Given the description of an element on the screen output the (x, y) to click on. 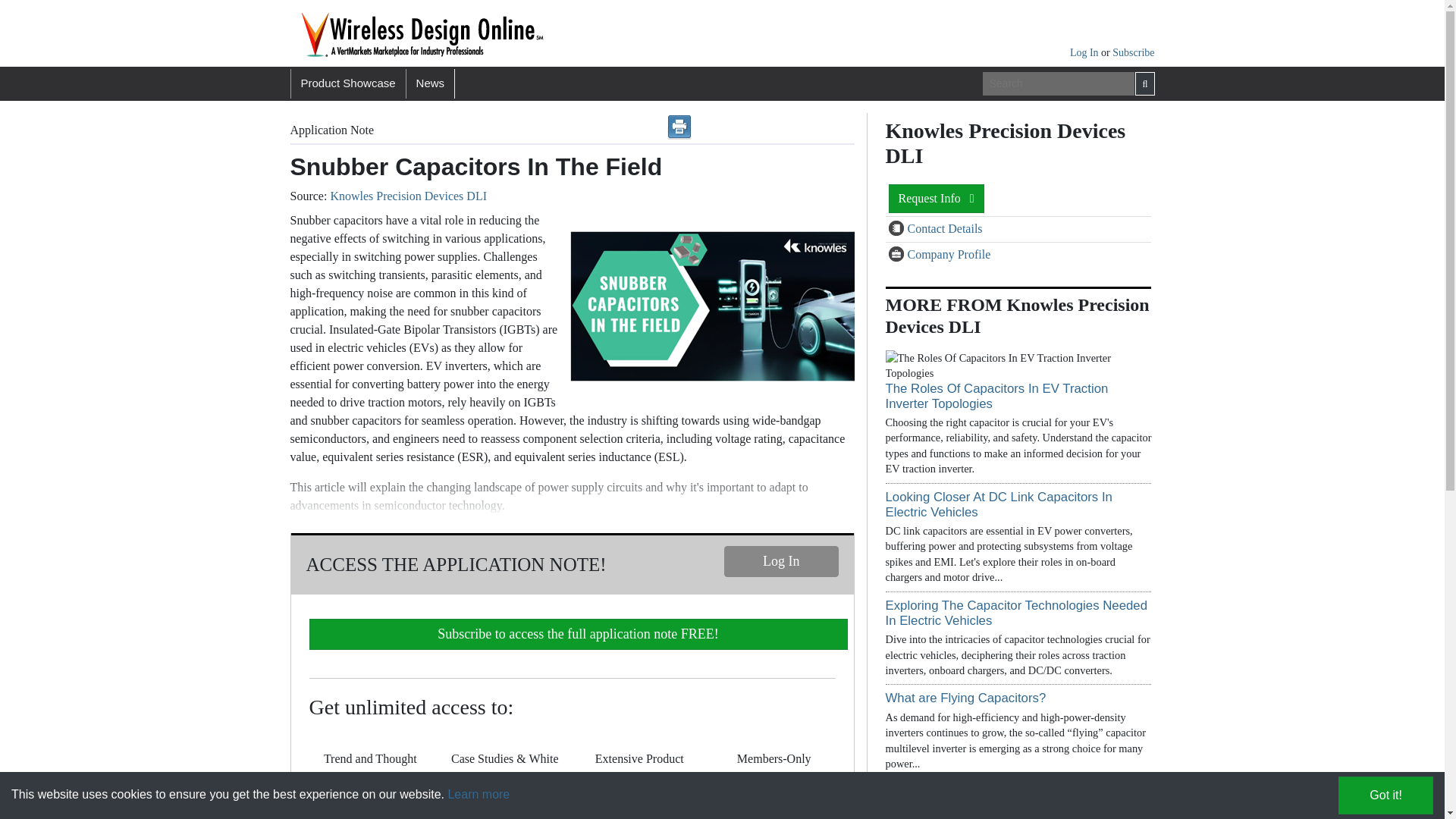
Log In (780, 561)
What are Flying Capacitors? (965, 698)
Knowles Precision Devices DLI (408, 195)
Company Profile (897, 254)
Subscribe to access the full application note FREE! (577, 634)
News (430, 83)
The Roles Of Capacitors In EV Traction Inverter Topologies (996, 396)
Subscribe (1133, 52)
Product Showcase (346, 83)
Knowles - snubber capacitors in the field (708, 306)
